Given the description of an element on the screen output the (x, y) to click on. 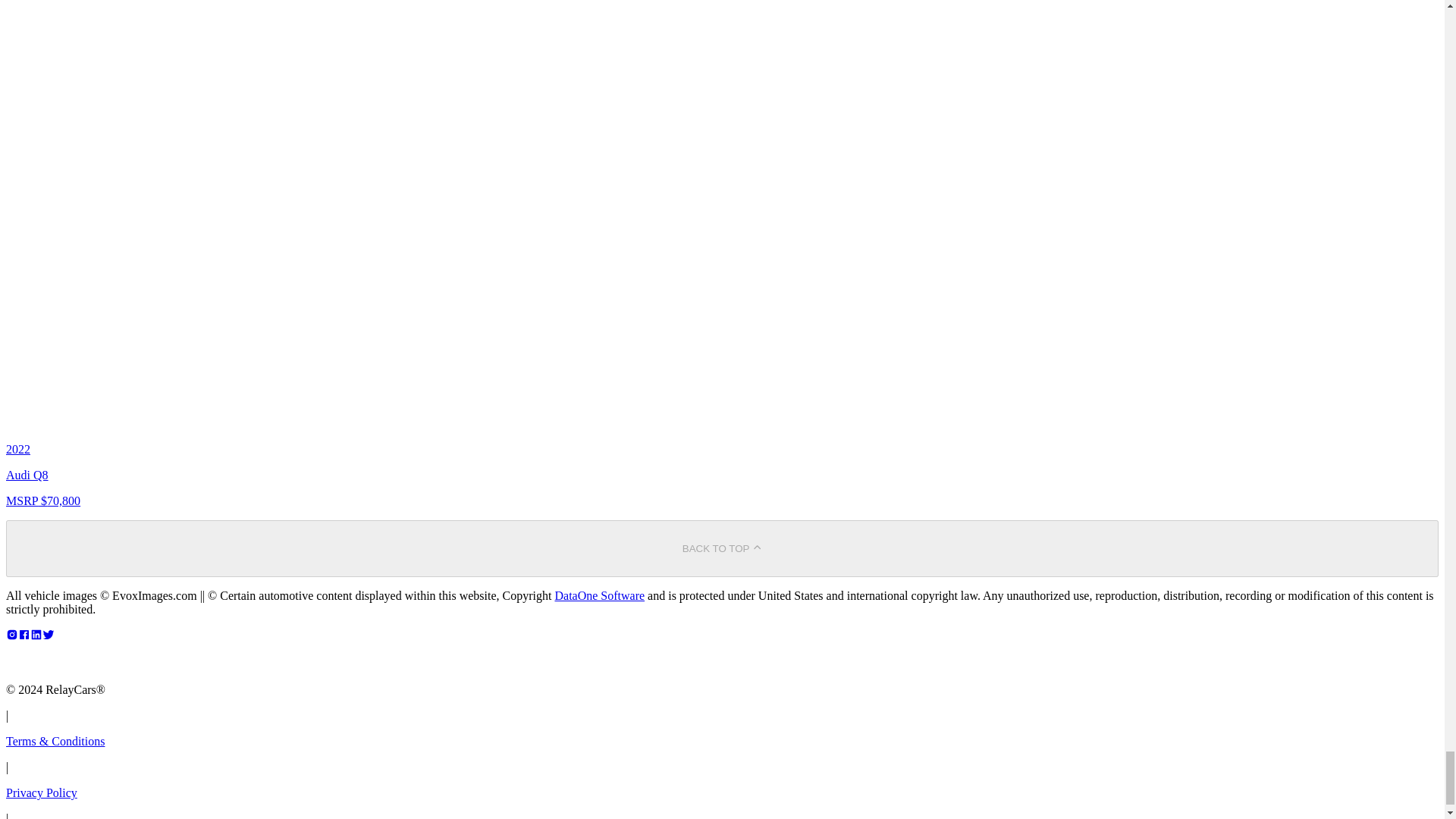
Privacy Policy (41, 792)
DataOne Software (599, 594)
